Given the description of an element on the screen output the (x, y) to click on. 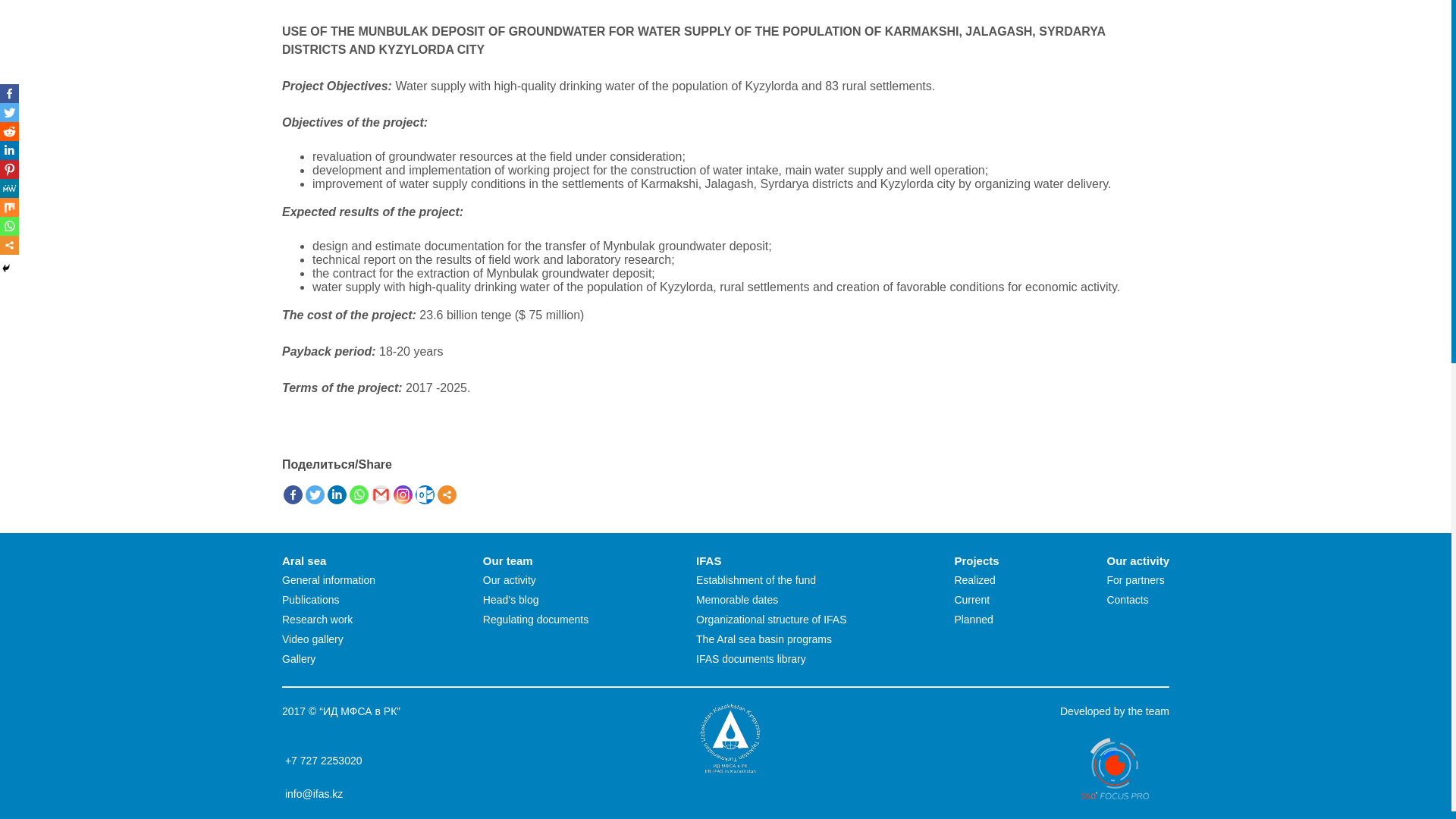
Whatsapp (358, 494)
Google Gmail (380, 494)
Twitter (314, 494)
More (447, 494)
Instagram (402, 494)
Facebook (292, 494)
Outlook.com (423, 494)
Linkedin (336, 494)
